Given the description of an element on the screen output the (x, y) to click on. 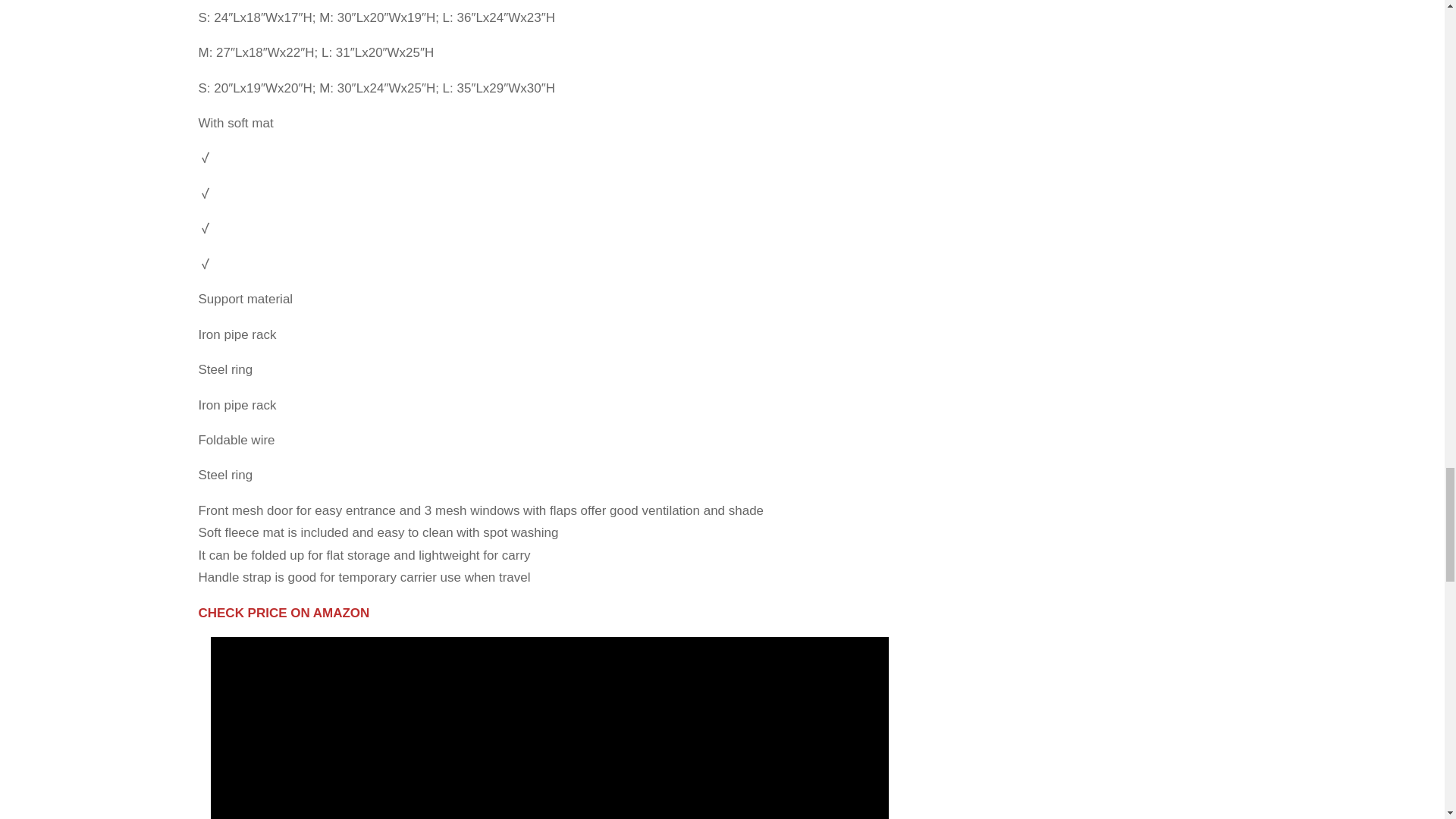
CHECK PRICE ON AMAZON (283, 612)
